Given the description of an element on the screen output the (x, y) to click on. 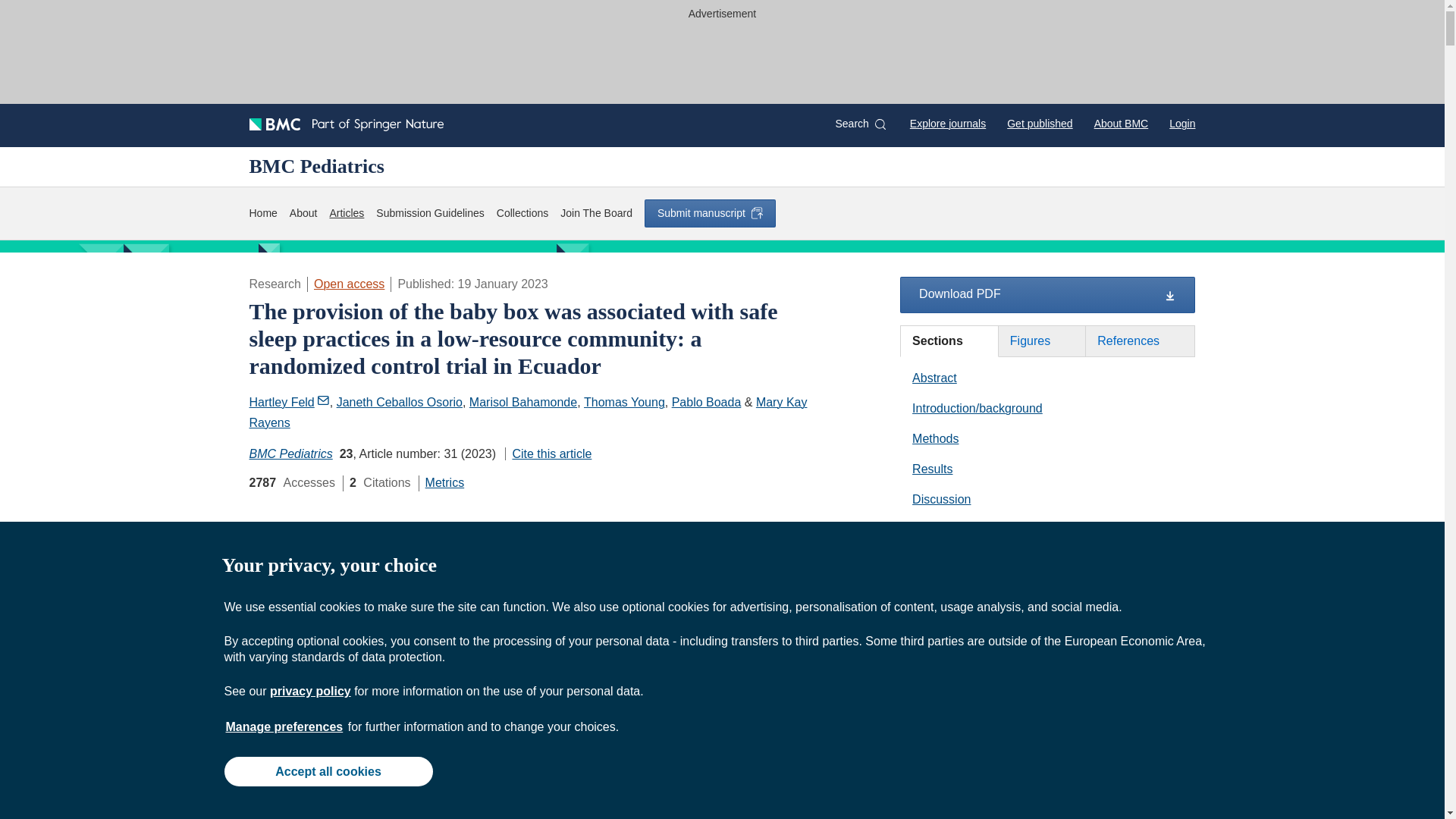
Manage preferences (284, 726)
About BMC (1121, 123)
Articles (346, 212)
Marisol Bahamonde (522, 401)
Home (262, 212)
privacy policy (309, 690)
Open access (349, 283)
Janeth Ceballos Osorio (399, 401)
Submission Guidelines (429, 212)
Join The Board (595, 212)
